Given the description of an element on the screen output the (x, y) to click on. 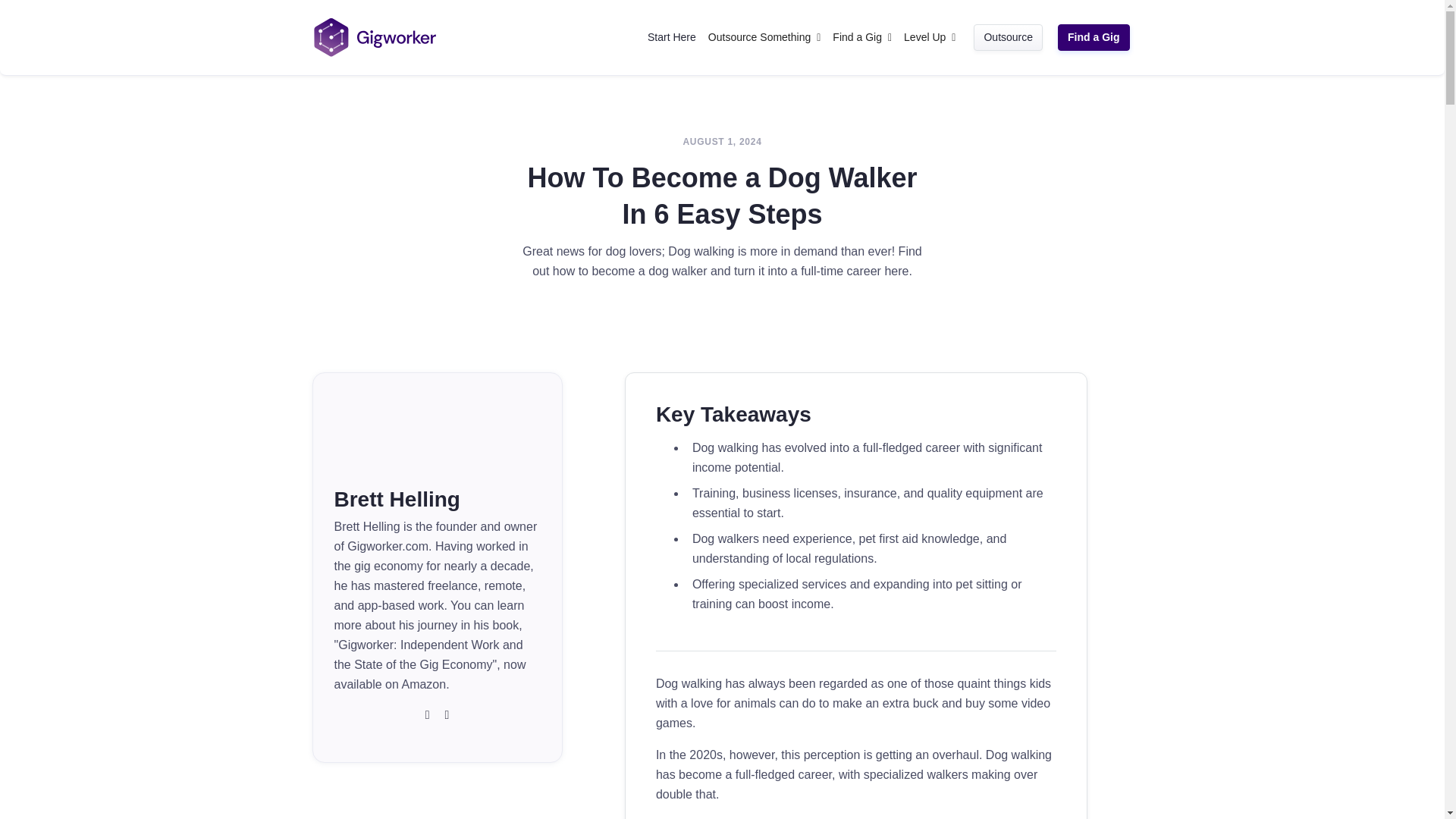
Outsource (1008, 37)
Start Here (671, 37)
Find a Gig (1093, 37)
